Given the description of an element on the screen output the (x, y) to click on. 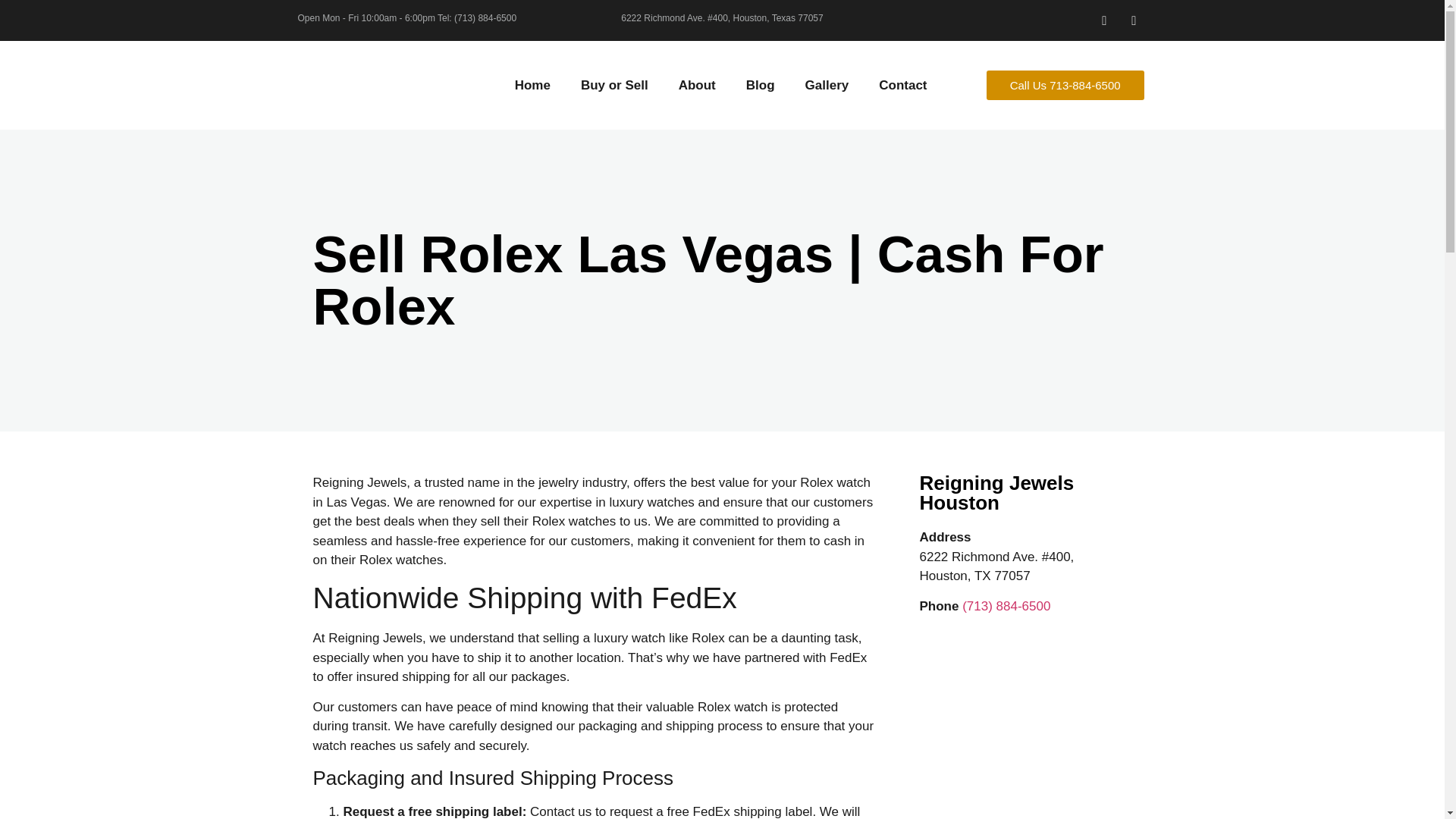
Blog (760, 85)
Home (532, 85)
Gallery (827, 85)
Contact (902, 85)
About (696, 85)
Buy or Sell (614, 85)
Call Us 713-884-6500 (1065, 84)
